Given the description of an element on the screen output the (x, y) to click on. 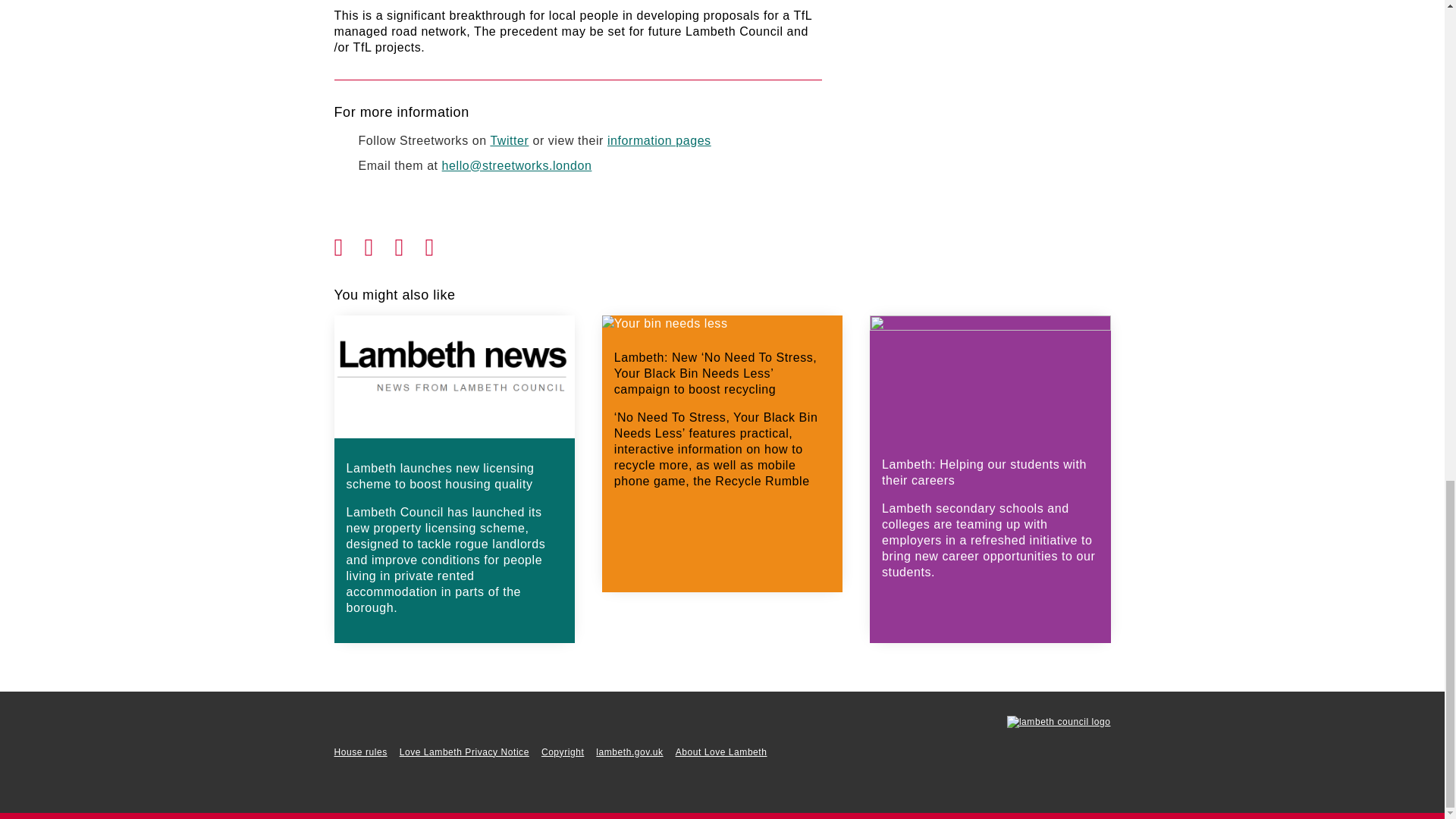
House rules (360, 751)
share this on Facebook (348, 242)
lambeth council's website (1058, 721)
share this on google plus (409, 242)
share this on twitter (379, 242)
Love Lambeth Privacy Notice (463, 751)
lambeth.gov.uk (628, 751)
Twitter (508, 140)
About Love Lambeth (721, 751)
Copyright (562, 751)
